Given the description of an element on the screen output the (x, y) to click on. 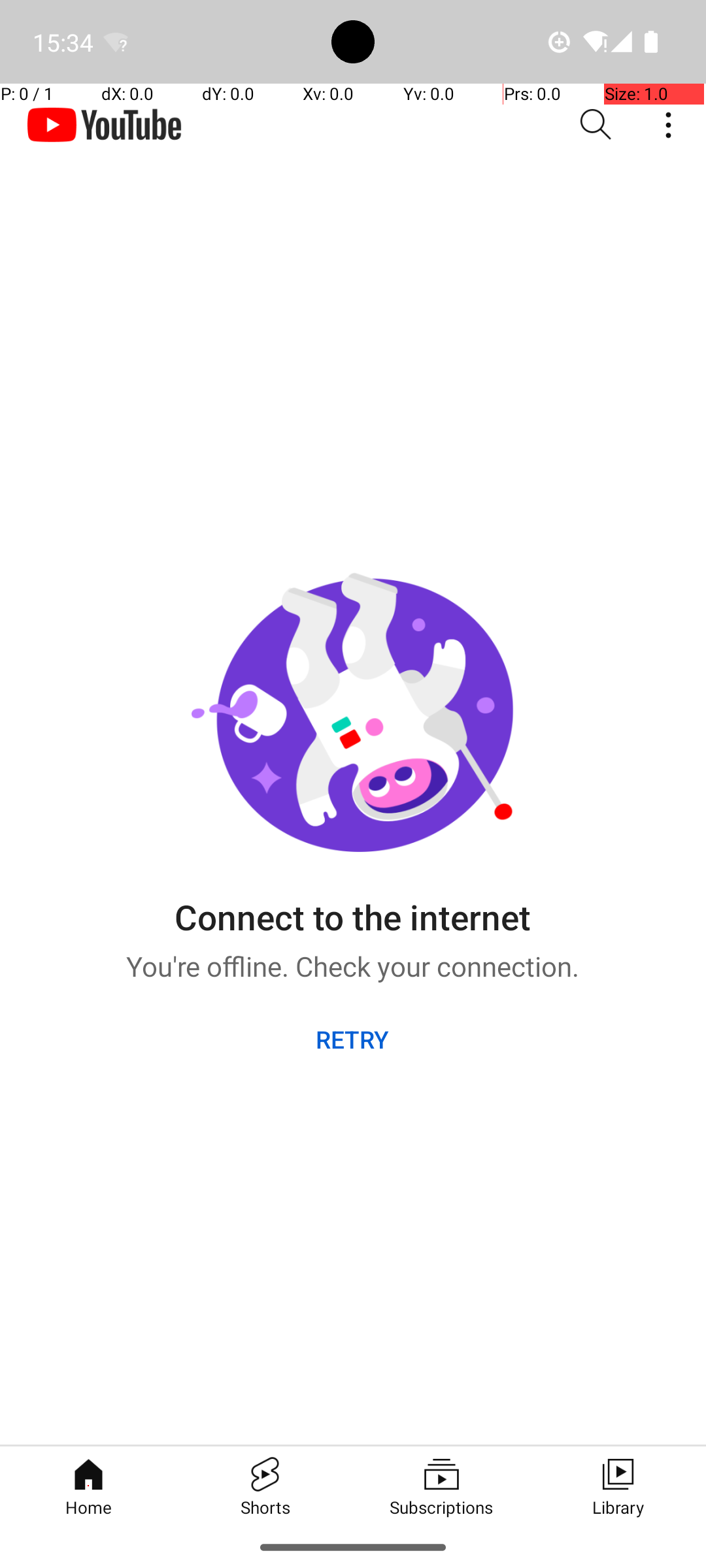
Connect to the internet Element type: android.widget.TextView (351, 906)
You're offline. Check your connection. Element type: android.widget.TextView (352, 962)
RETRY Element type: android.widget.TextView (352, 1039)
